Given the description of an element on the screen output the (x, y) to click on. 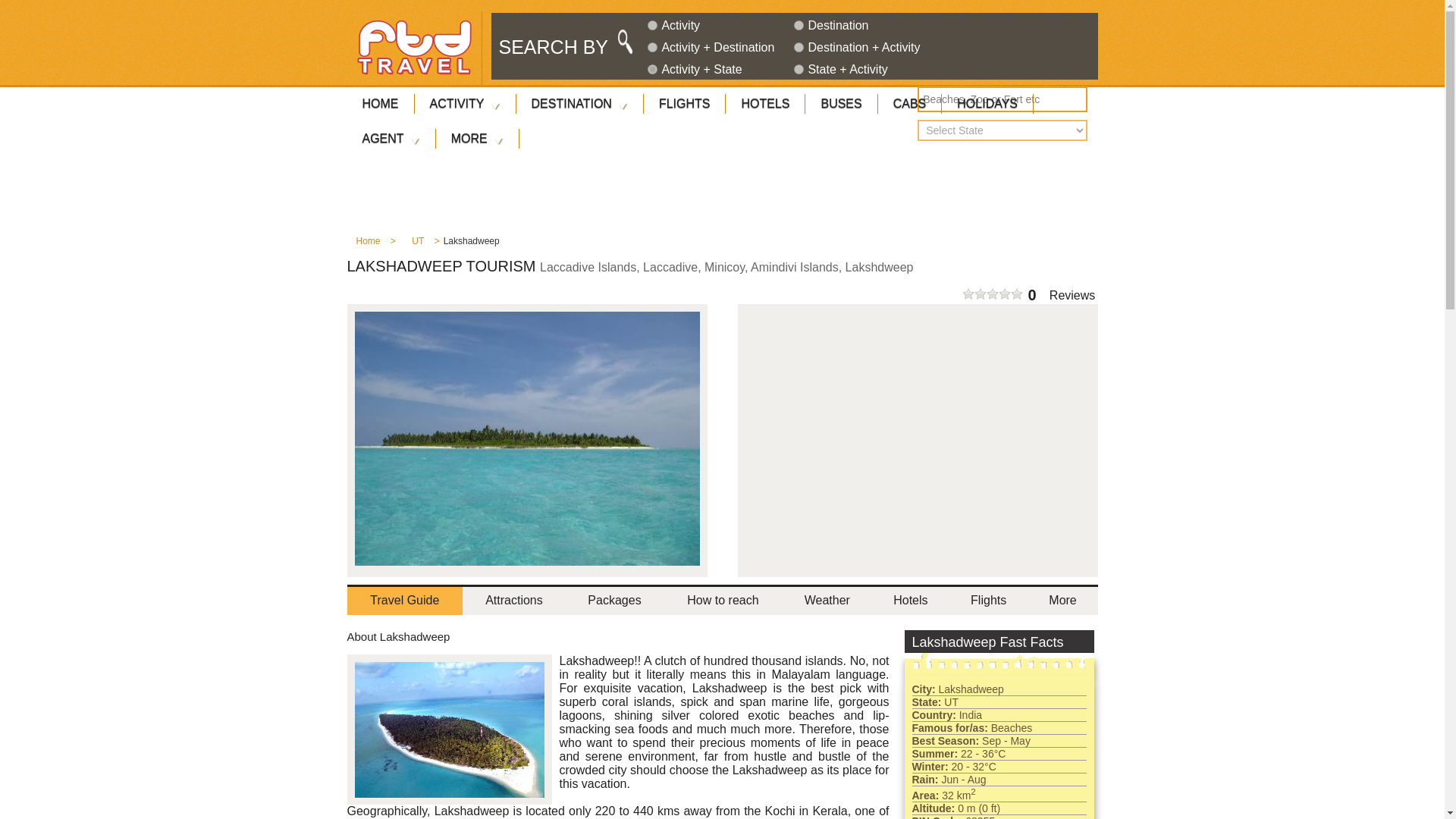
3 (652, 47)
HOTELS (765, 103)
MORE (477, 138)
CABS (909, 103)
AGENT (391, 138)
HOME (380, 103)
India World Travel Tourism Guide - FTD Travel (414, 47)
Travel Guide (405, 599)
2 (798, 25)
DESTINATION (579, 103)
4 (798, 47)
Home (367, 244)
HOLIDAYS (986, 103)
Beaches, Zoo or Fort etc (1002, 99)
ACTIVITY (464, 103)
